Given the description of an element on the screen output the (x, y) to click on. 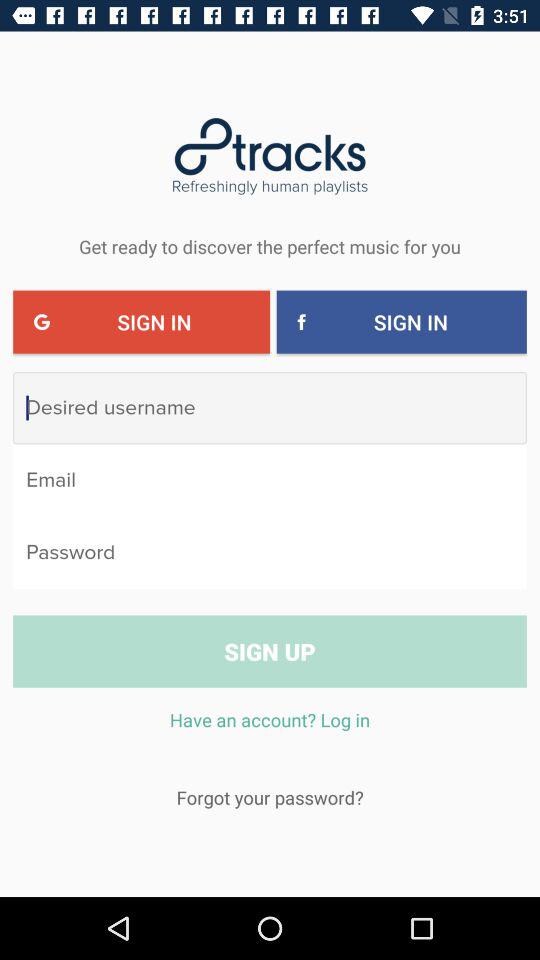
tap the forgot your password? (269, 797)
